Given the description of an element on the screen output the (x, y) to click on. 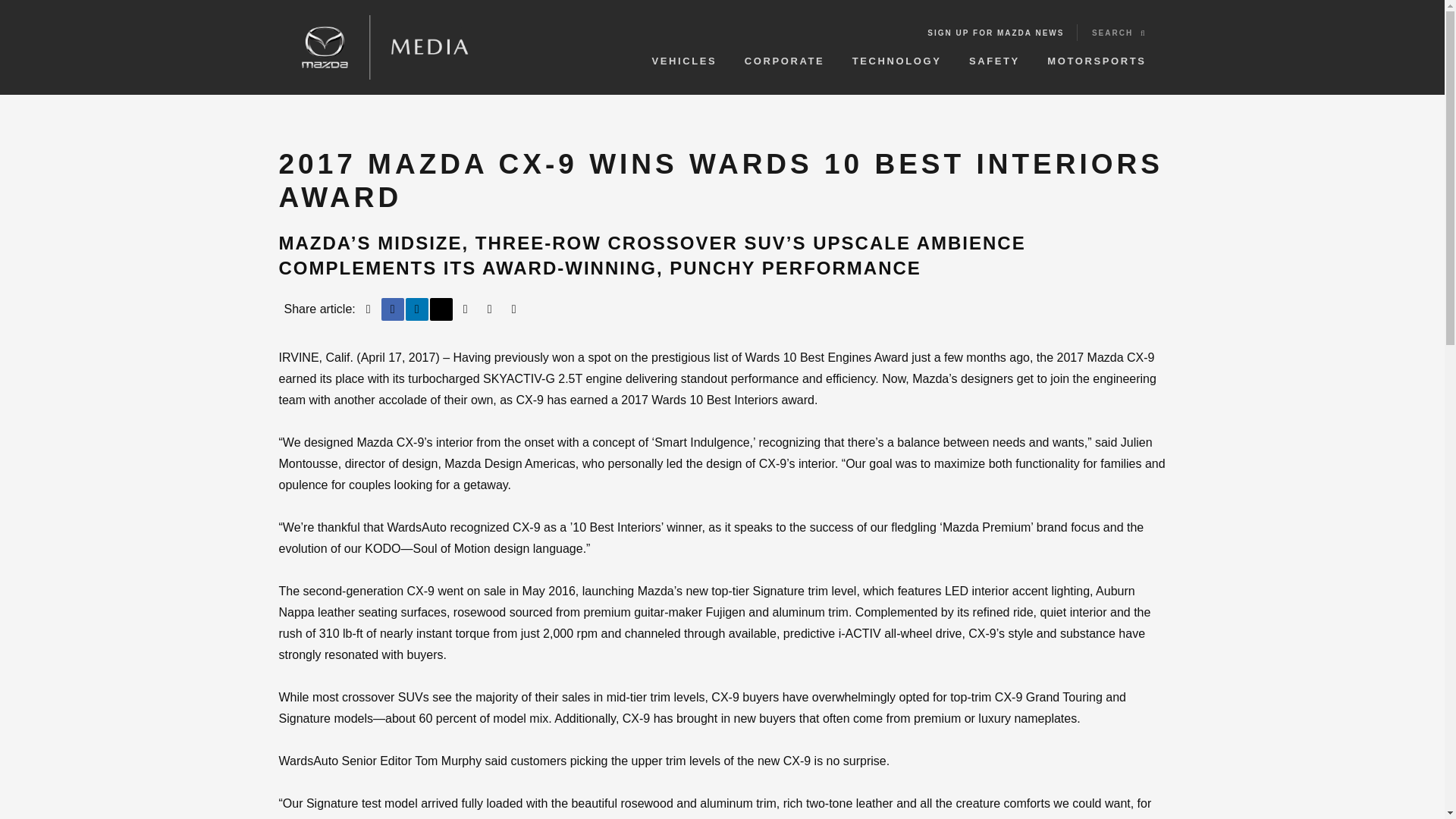
print (368, 309)
rss (489, 309)
SAFETY (994, 58)
Linkedin Share (417, 309)
TECHNOLOGY (896, 58)
Vehicles (684, 58)
email (465, 309)
Technology (896, 58)
Safety (994, 58)
Twitter Share (440, 309)
VEHICLES (684, 58)
CORPORATE (784, 58)
MOTORSPORTS (1095, 58)
Facebook Share (392, 309)
Corporate (784, 58)
